Given the description of an element on the screen output the (x, y) to click on. 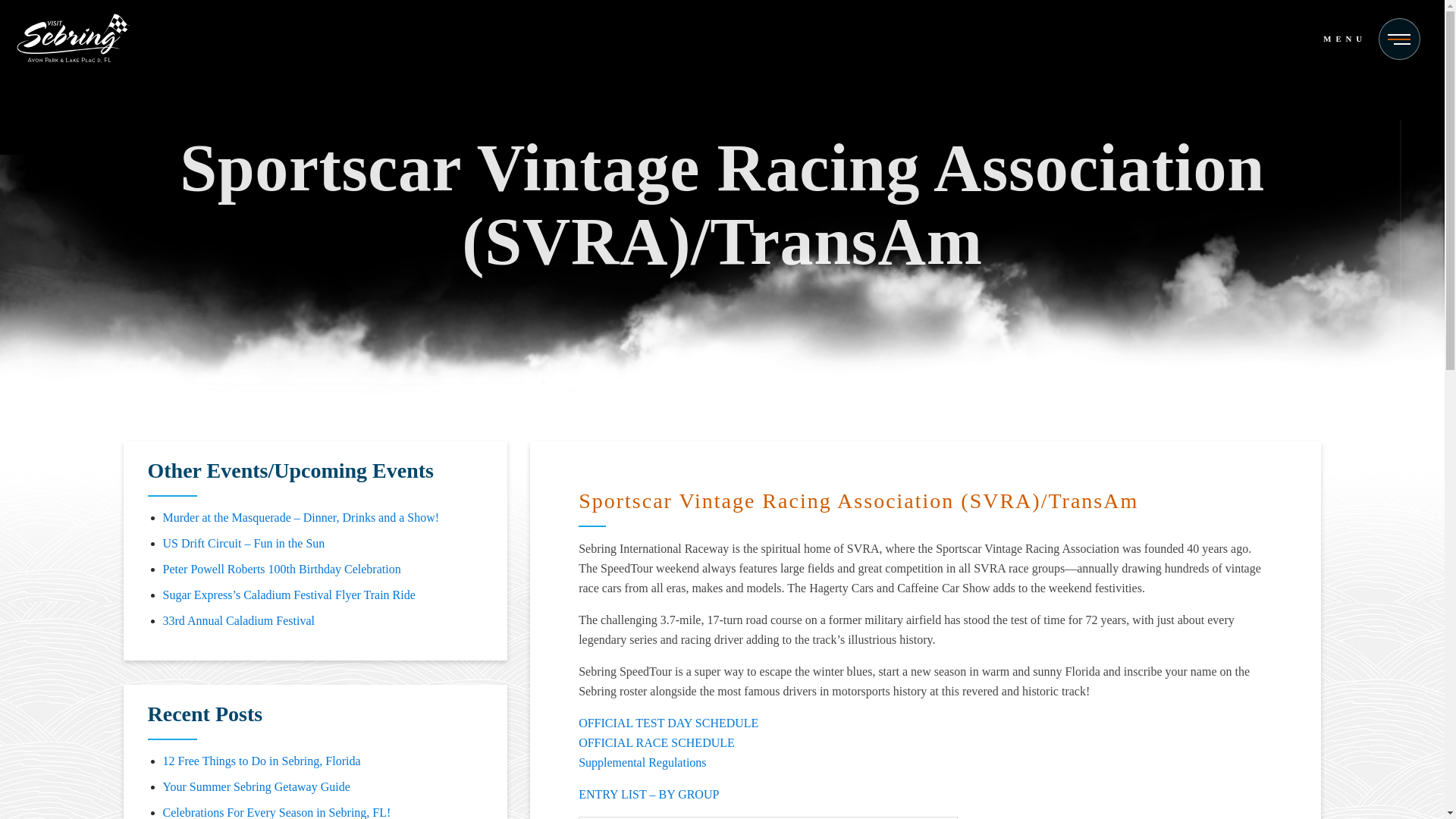
Go to Sebring homepage (72, 40)
